Given the description of an element on the screen output the (x, y) to click on. 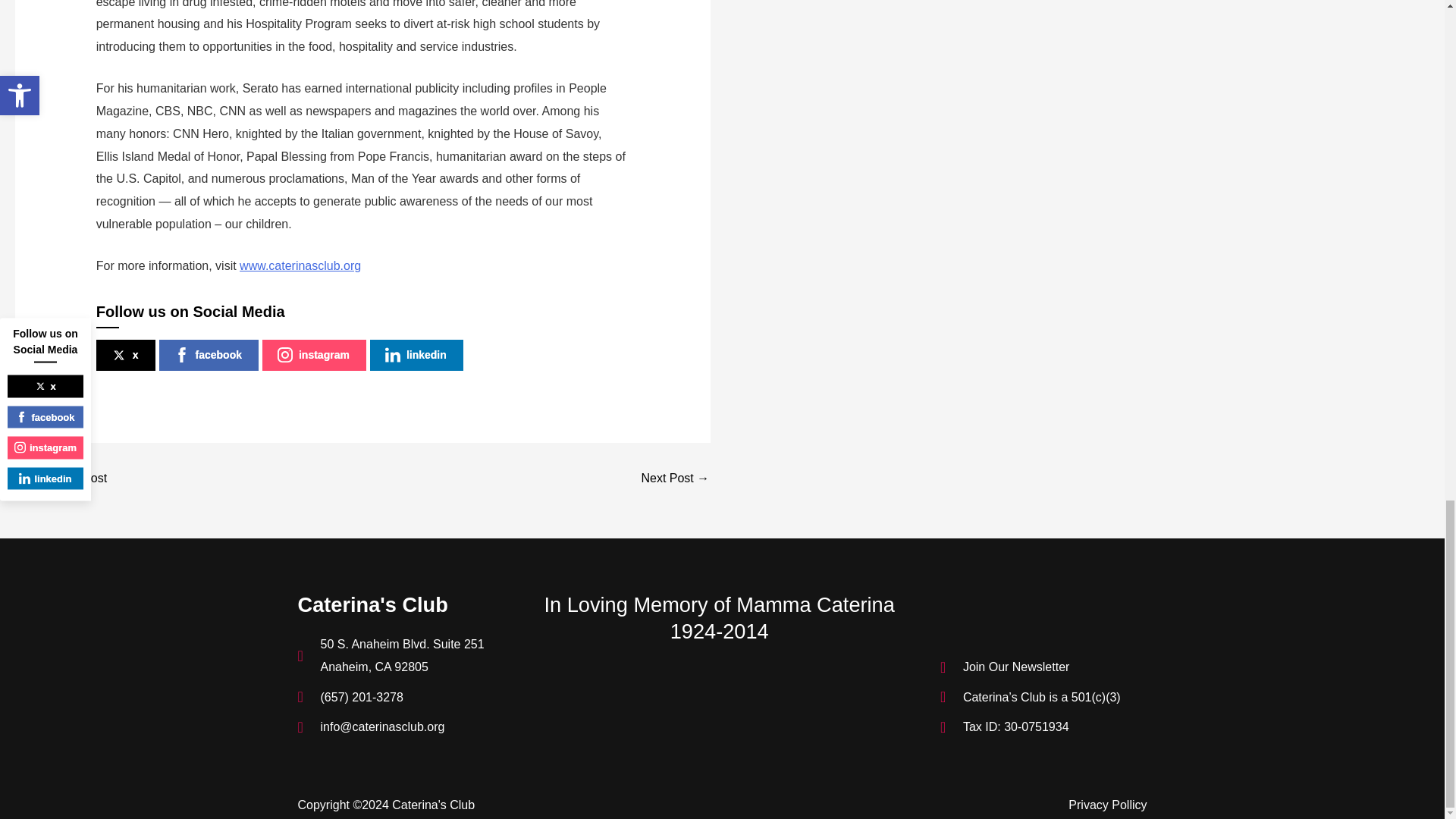
Employment Associates Attend 2019 Caterina's Club Gala (61, 478)
